Given the description of an element on the screen output the (x, y) to click on. 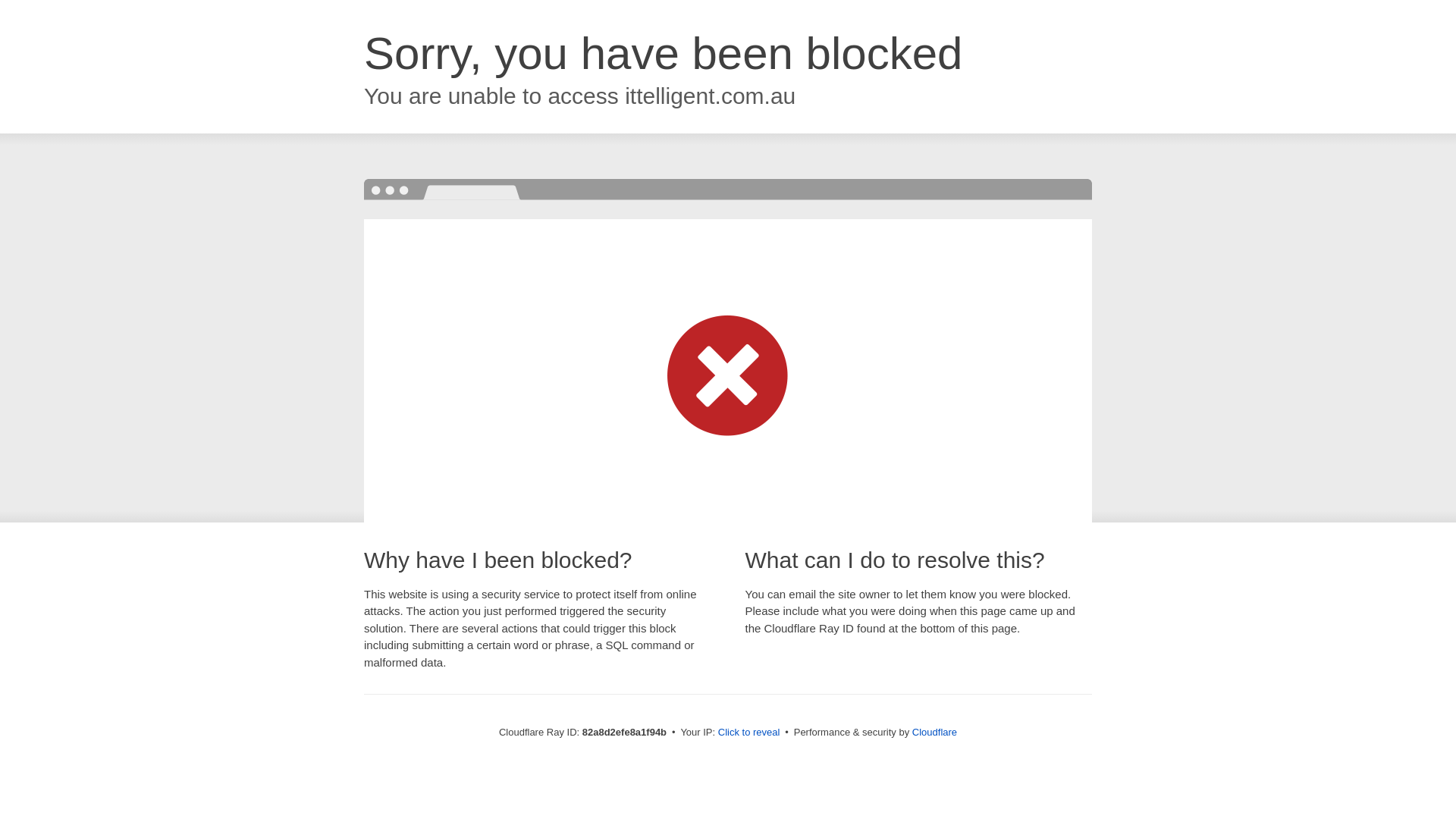
Click to reveal Element type: text (749, 732)
Cloudflare Element type: text (934, 731)
